Given the description of an element on the screen output the (x, y) to click on. 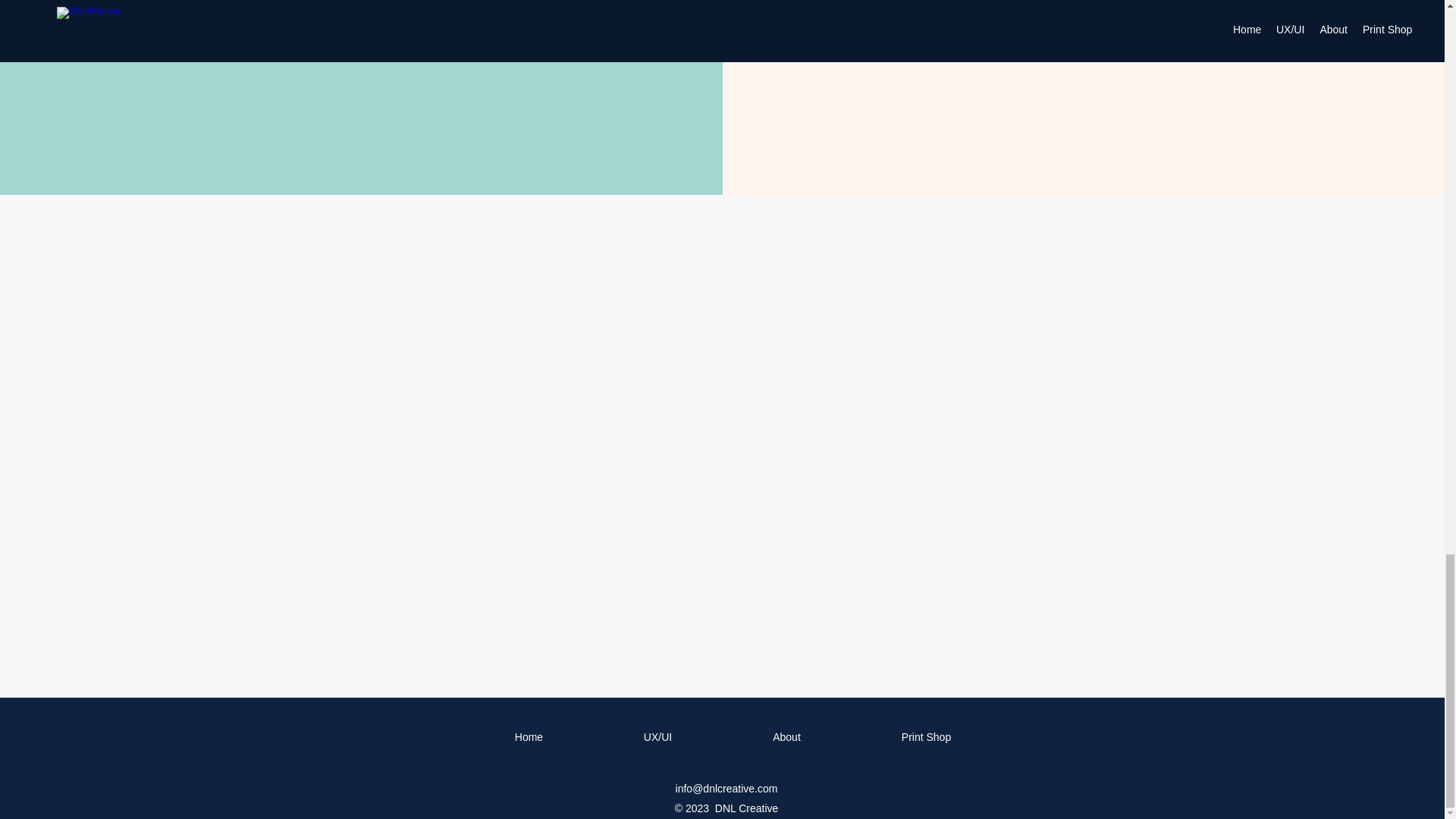
Home (528, 736)
Print Shop (925, 736)
About (786, 736)
